Given the description of an element on the screen output the (x, y) to click on. 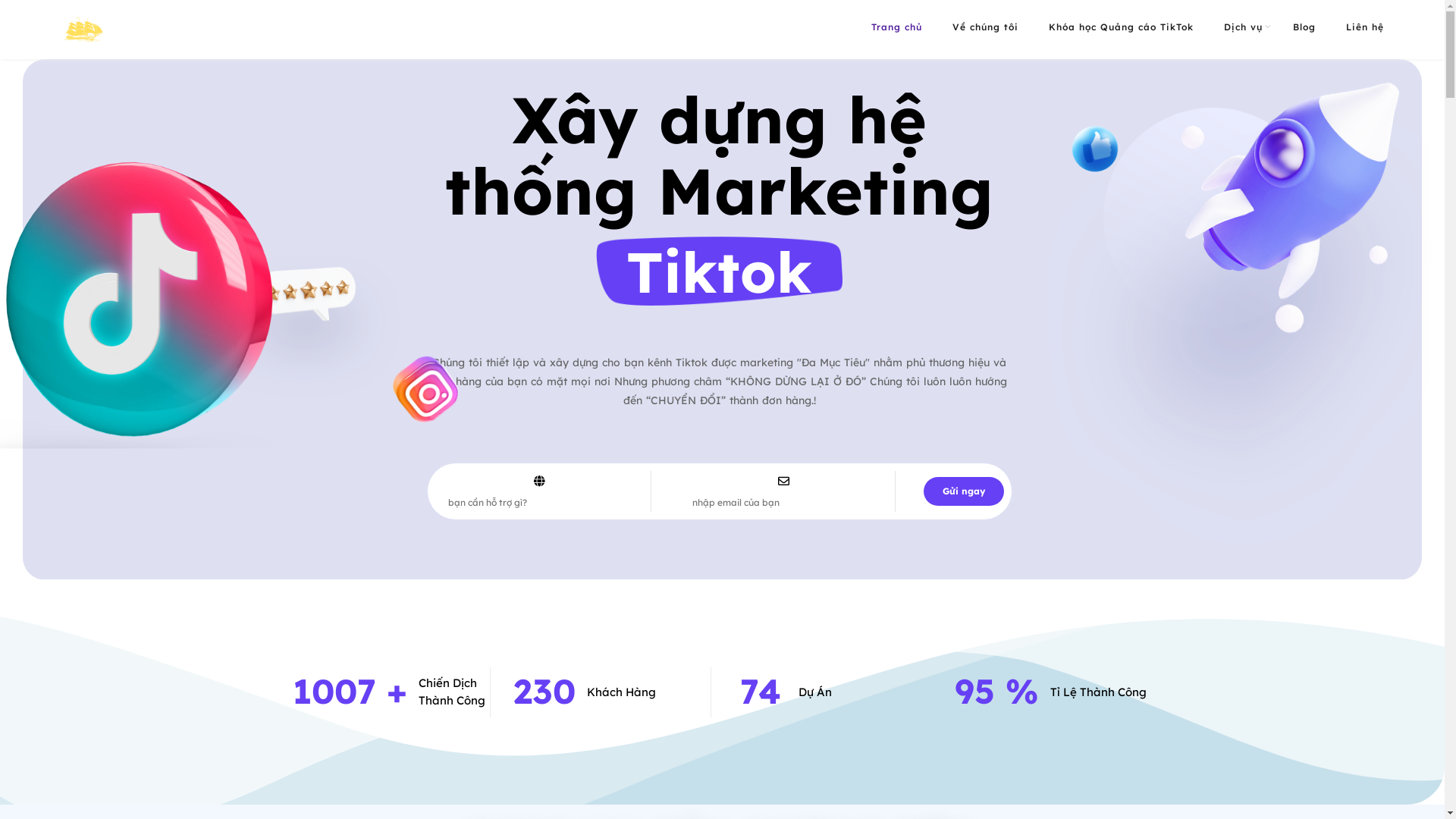
Blog Element type: text (1303, 27)
